Given the description of an element on the screen output the (x, y) to click on. 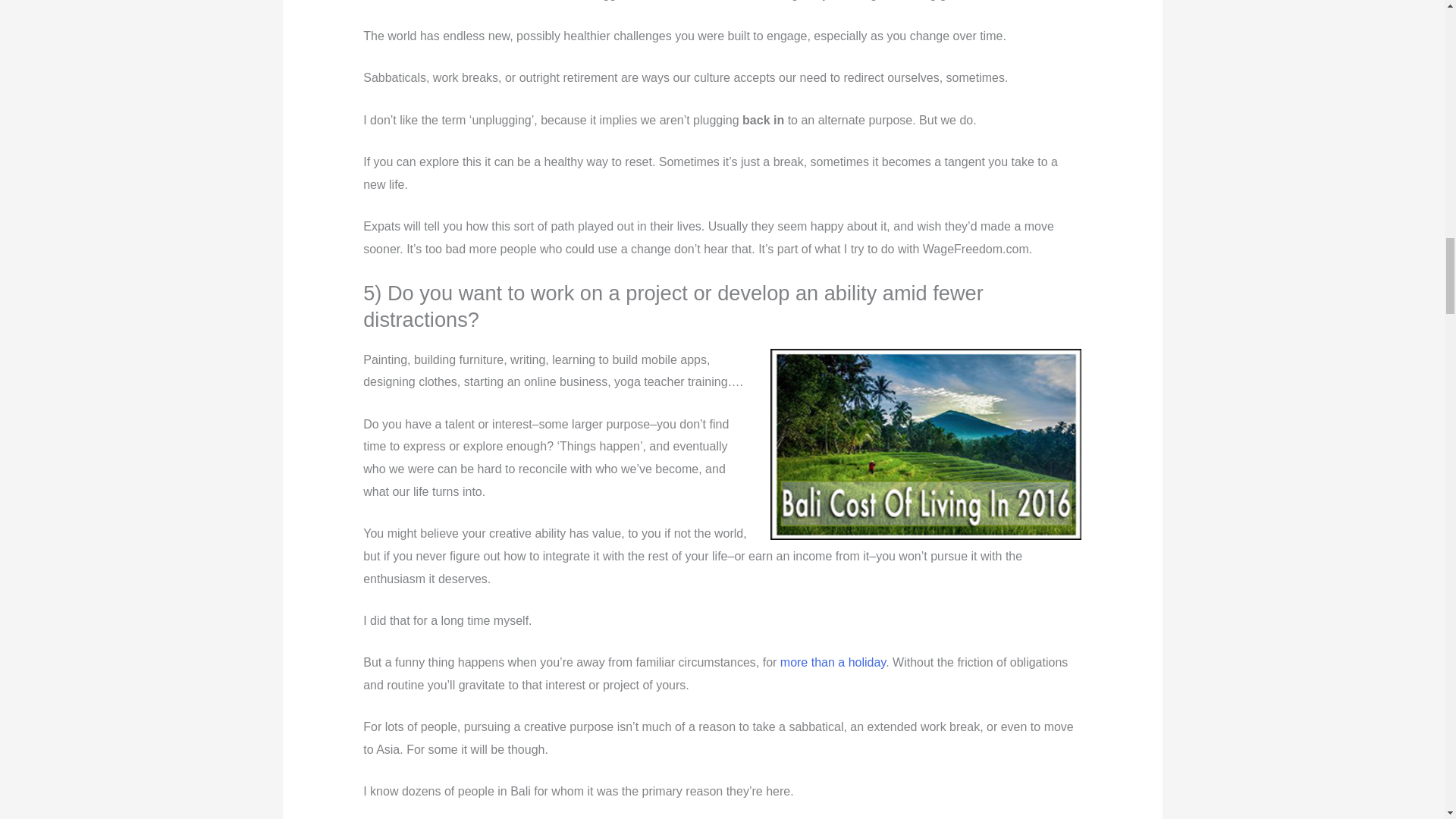
more than a holiday (832, 662)
